Given the description of an element on the screen output the (x, y) to click on. 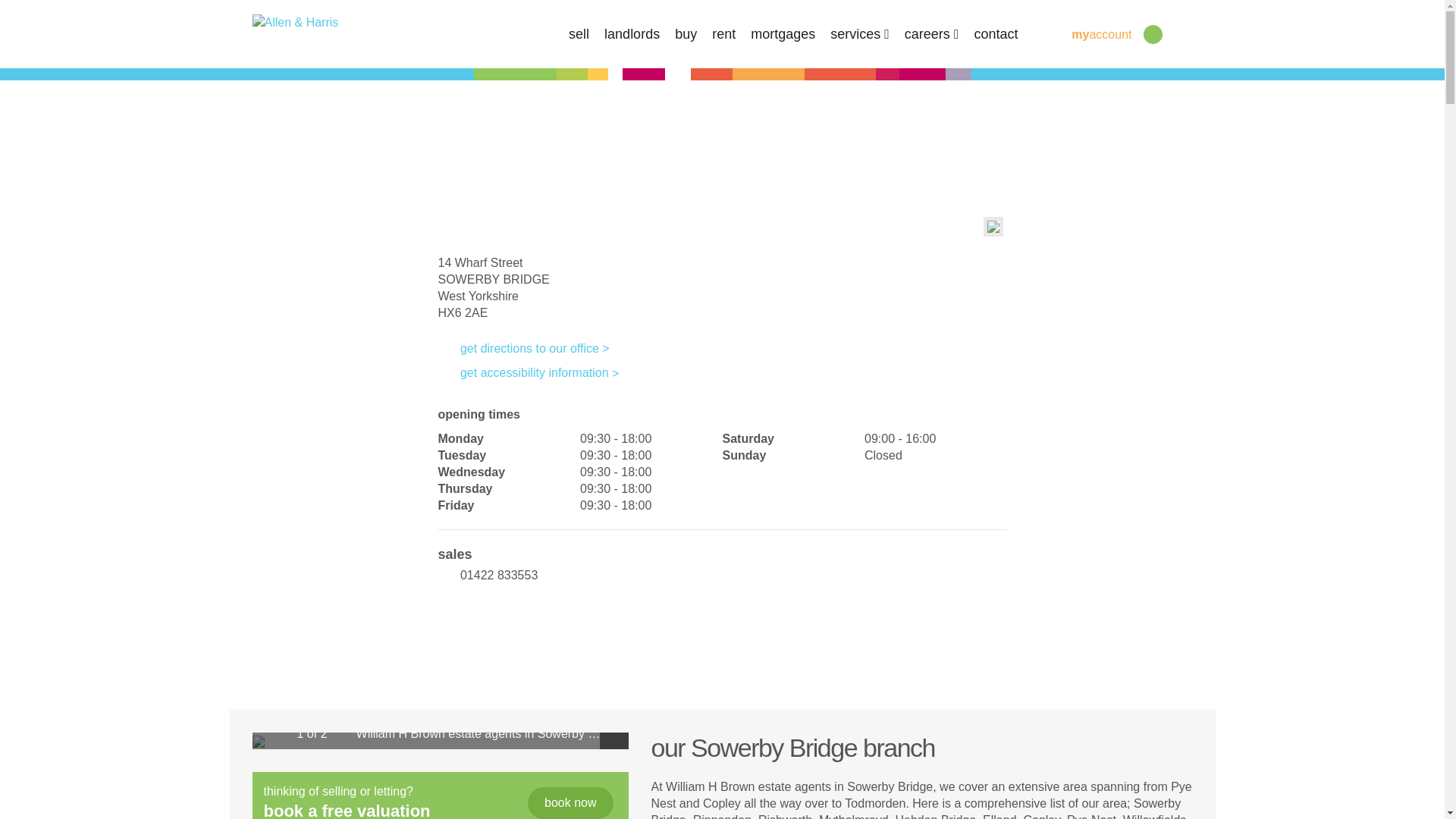
rent (723, 33)
Book valuation (569, 803)
careers (931, 33)
Accessibility information (529, 372)
sell (579, 33)
contact (995, 33)
landlords (631, 33)
services (859, 33)
buy (686, 33)
myaccount (1088, 33)
